Given the description of an element on the screen output the (x, y) to click on. 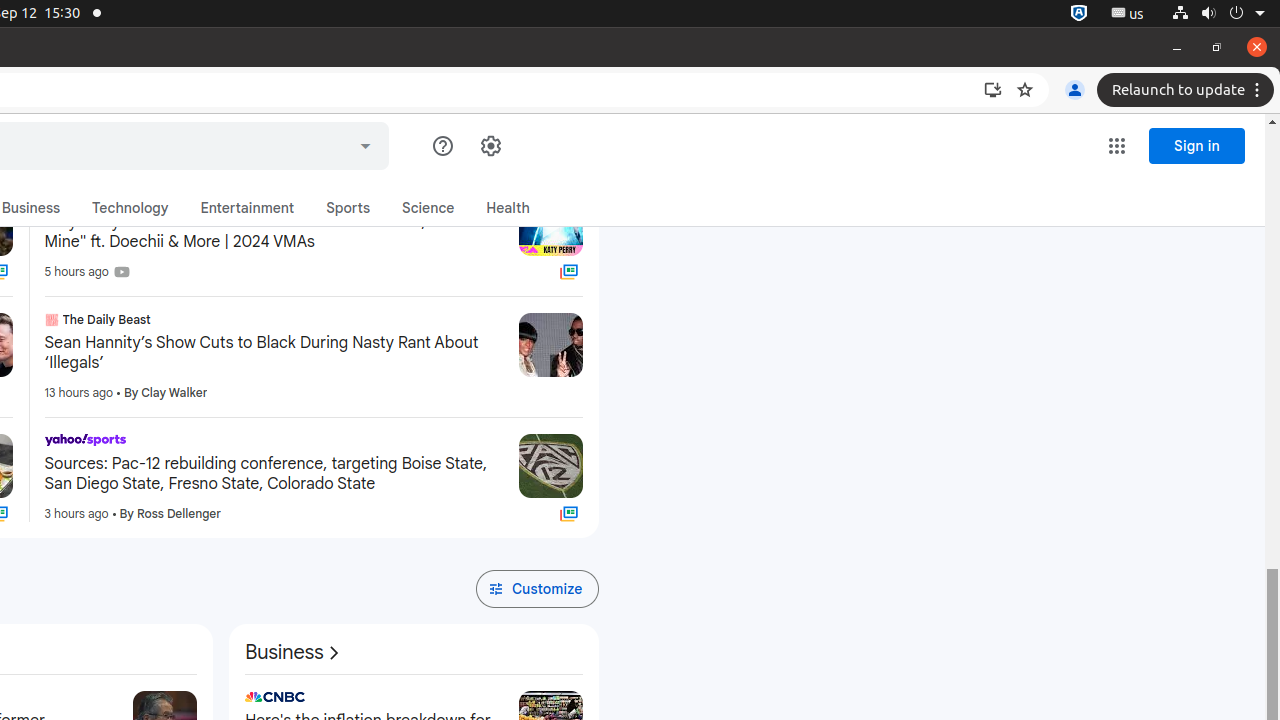
Advanced search Element type: push-button (365, 143)
Settings Element type: push-button (490, 146)
Entertainment Element type: menu-item (247, 208)
System Element type: menu (1218, 13)
More - Here's the inflation breakdown for August 2024 — in one chart Element type: push-button (496, 700)
